Given the description of an element on the screen output the (x, y) to click on. 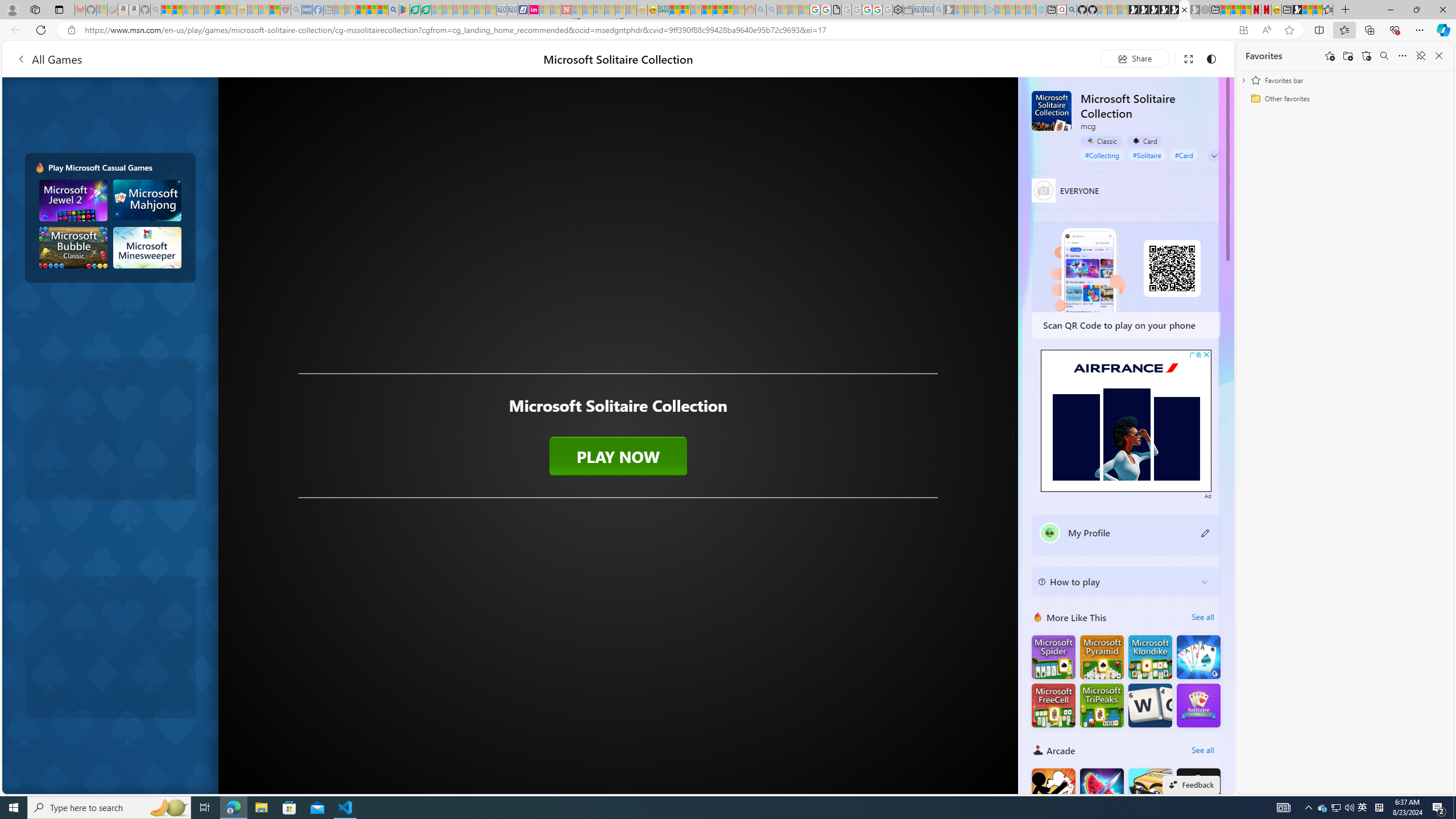
MSNBC - MSN (673, 9)
Microsoft Minesweeper (147, 247)
Cheap Car Rentals - Save70.com - Sleeping (928, 9)
Microsoft Bubble Classic (73, 247)
Microsoft Solitaire (1149, 657)
Trusted Community Engagement and Contributions | Guidelines (577, 9)
Microsoft Solitaire Collection (1051, 110)
Local - MSN (274, 9)
